Given the description of an element on the screen output the (x, y) to click on. 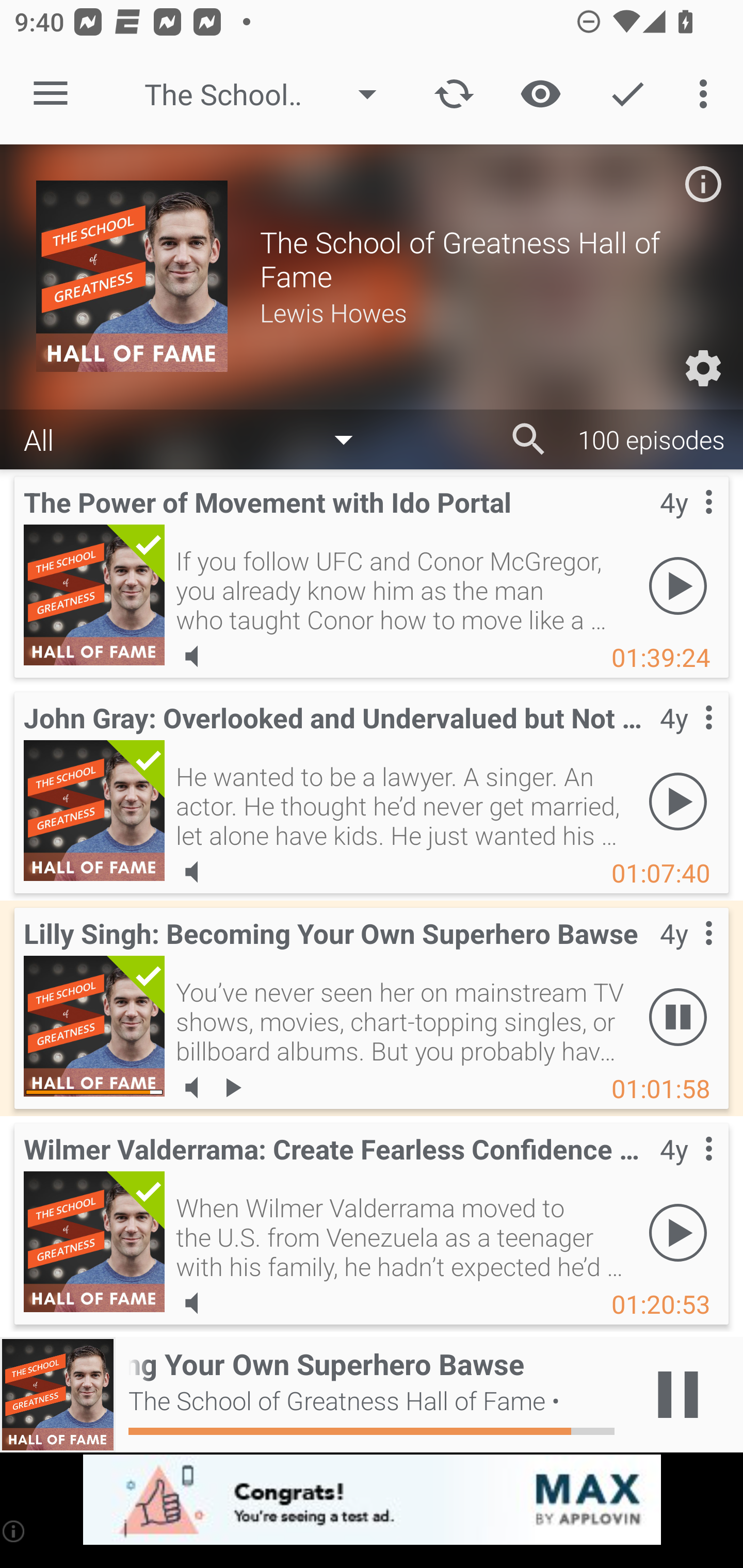
Open navigation sidebar (50, 93)
Update (453, 93)
Show / Hide played content (540, 93)
Action Mode (626, 93)
More options (706, 93)
The School of Greatness Hall of Fame (270, 94)
Podcast description (703, 184)
Lewis Howes (483, 311)
Custom Settings (703, 368)
Search (528, 439)
All (197, 438)
Contextual menu (685, 522)
The Power of Movement with Ido Portal (93, 594)
Play (677, 585)
Contextual menu (685, 738)
Play (677, 801)
Contextual menu (685, 954)
Lilly Singh: Becoming Your Own Superhero Bawse (93, 1026)
Pause (677, 1016)
Contextual menu (685, 1169)
Play (677, 1232)
Play / Pause (677, 1394)
app-monetization (371, 1500)
(i) (14, 1531)
